Given the description of an element on the screen output the (x, y) to click on. 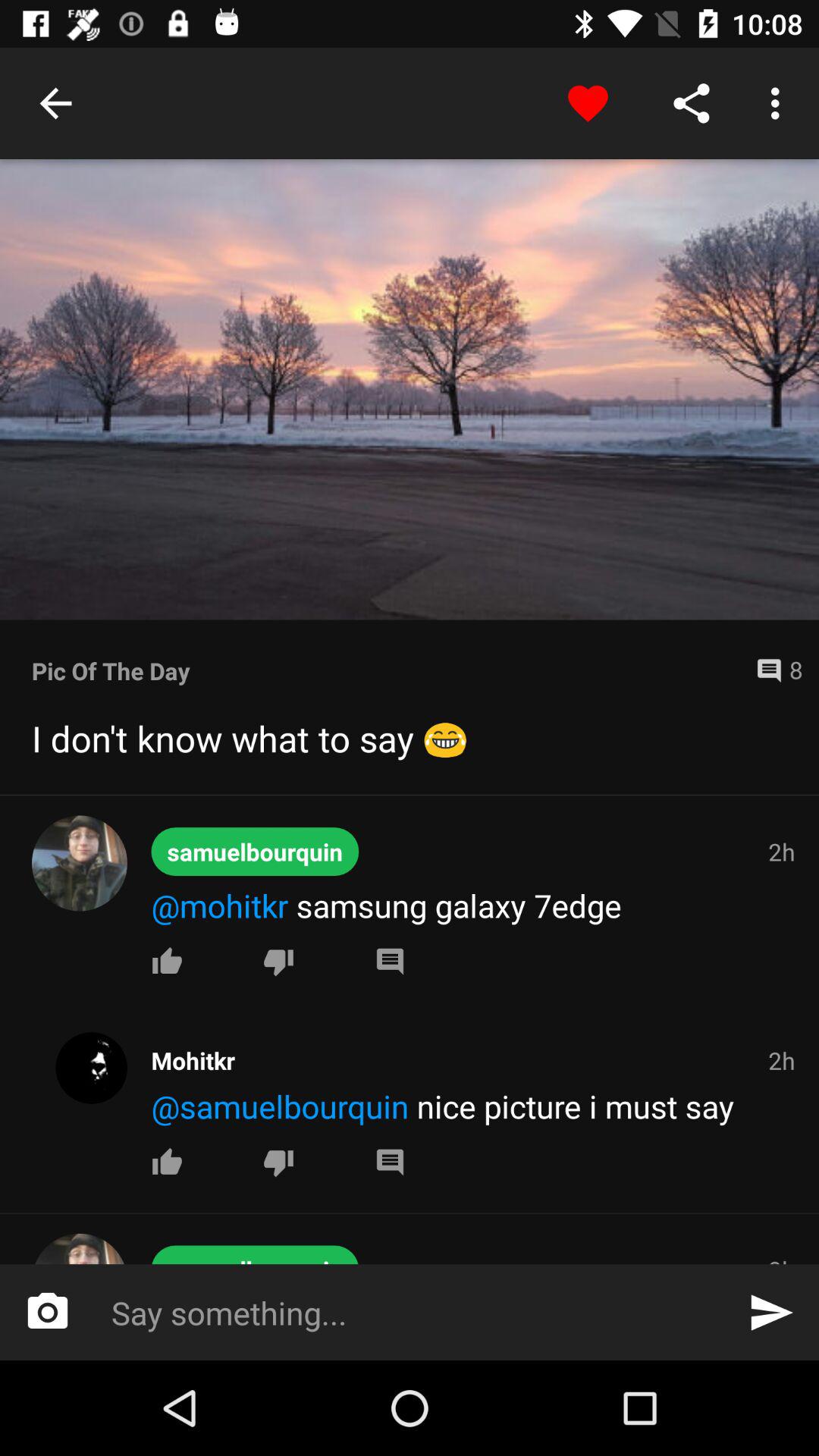
flip until the pic of the icon (387, 670)
